Given the description of an element on the screen output the (x, y) to click on. 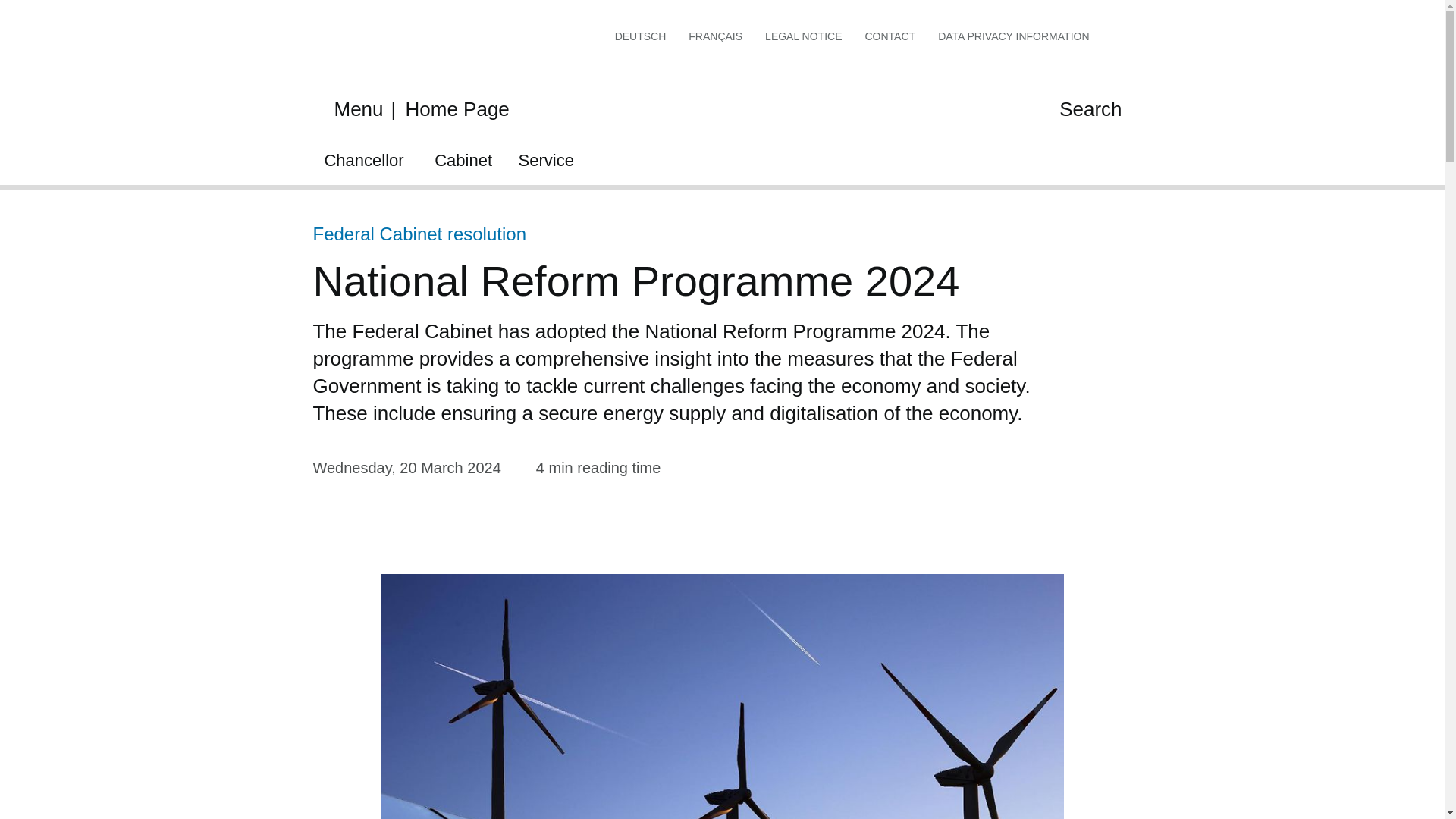
Home Page (450, 109)
To the start page (358, 51)
Menu (330, 109)
DATA PRIVACY INFORMATION (1013, 36)
LEGAL NOTICE (803, 36)
Search (1083, 109)
CONTACT (889, 36)
DEUTSCH (640, 36)
